Given the description of an element on the screen output the (x, y) to click on. 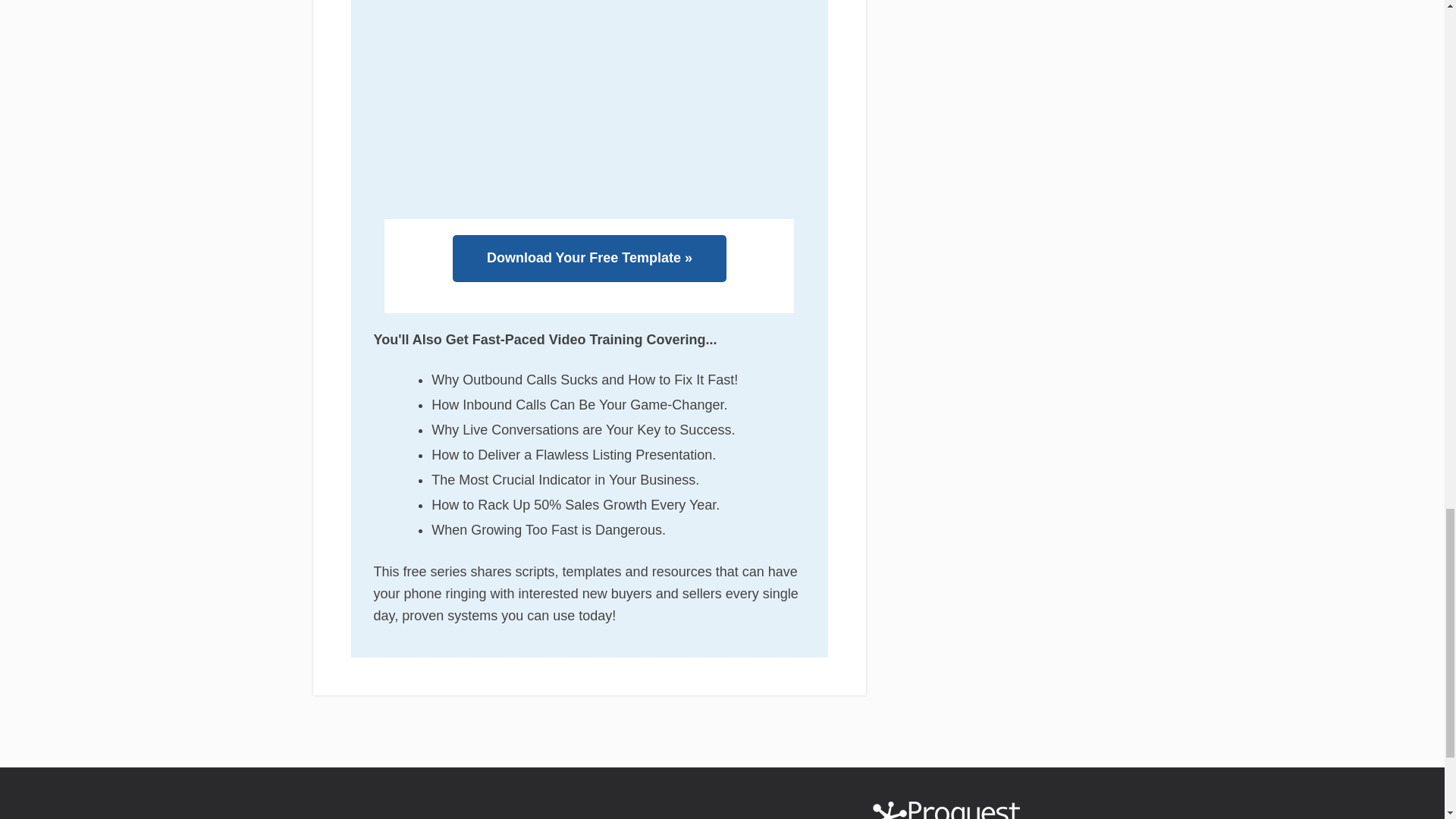
imac-lg-min2 (588, 109)
